Given the description of an element on the screen output the (x, y) to click on. 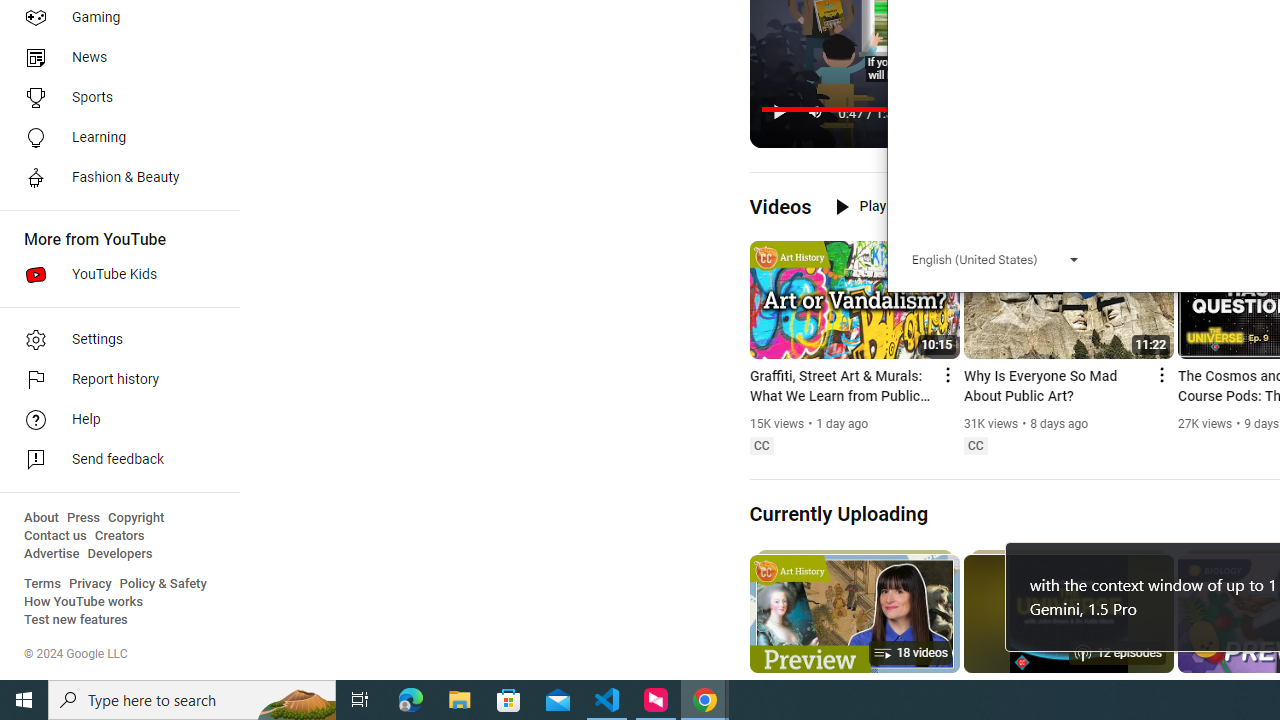
Videos (779, 206)
Send feedback (113, 459)
Help (113, 419)
Search highlights icon opens search home window (295, 699)
Contact us (55, 536)
Sports (113, 97)
How YouTube works (83, 602)
Closed captions (975, 446)
Advertise (51, 554)
Copyright (136, 518)
Google Chrome - 2 running windows (704, 699)
Type here to search (191, 699)
